Given the description of an element on the screen output the (x, y) to click on. 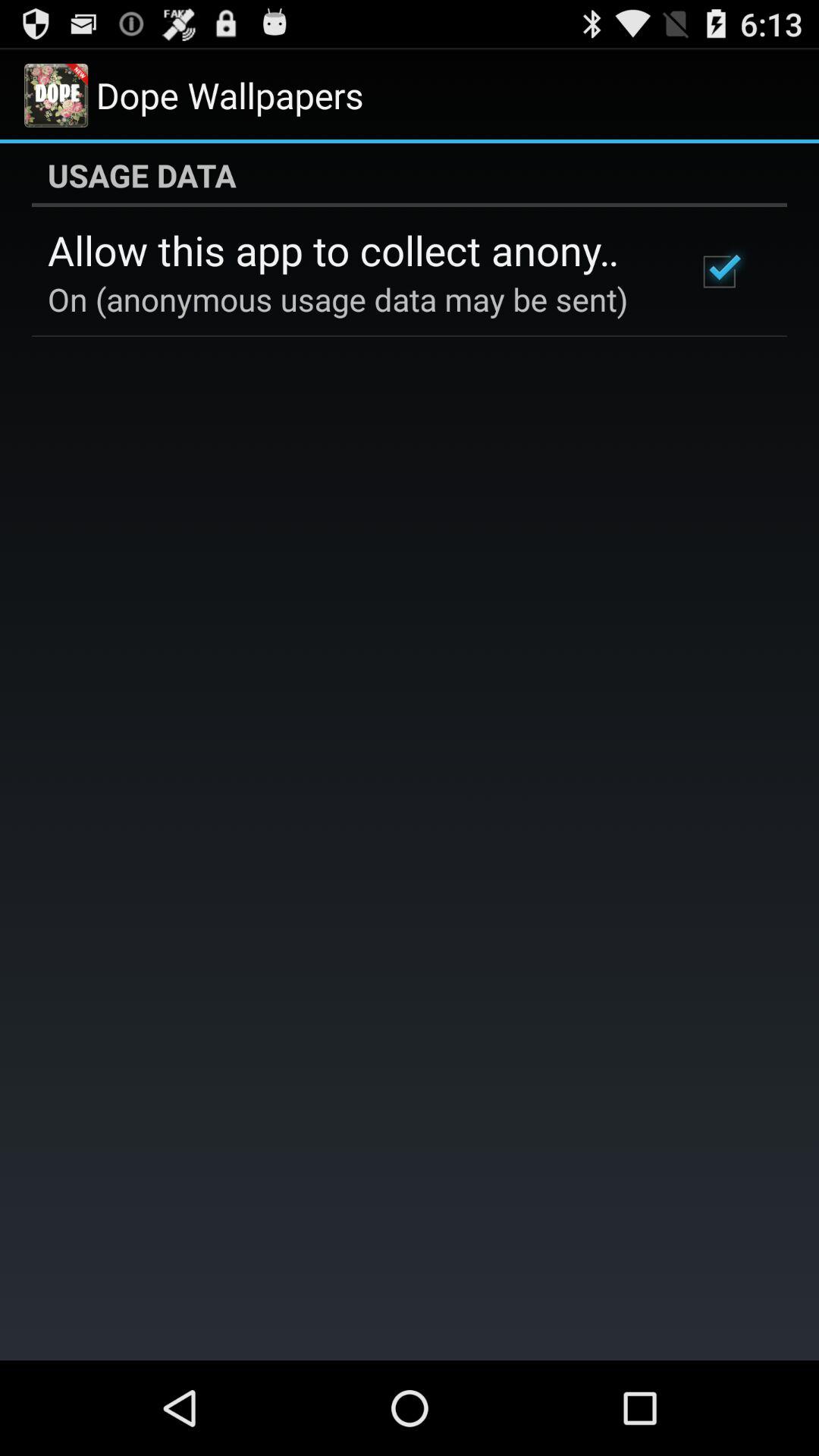
click app to the right of allow this app icon (719, 271)
